Given the description of an element on the screen output the (x, y) to click on. 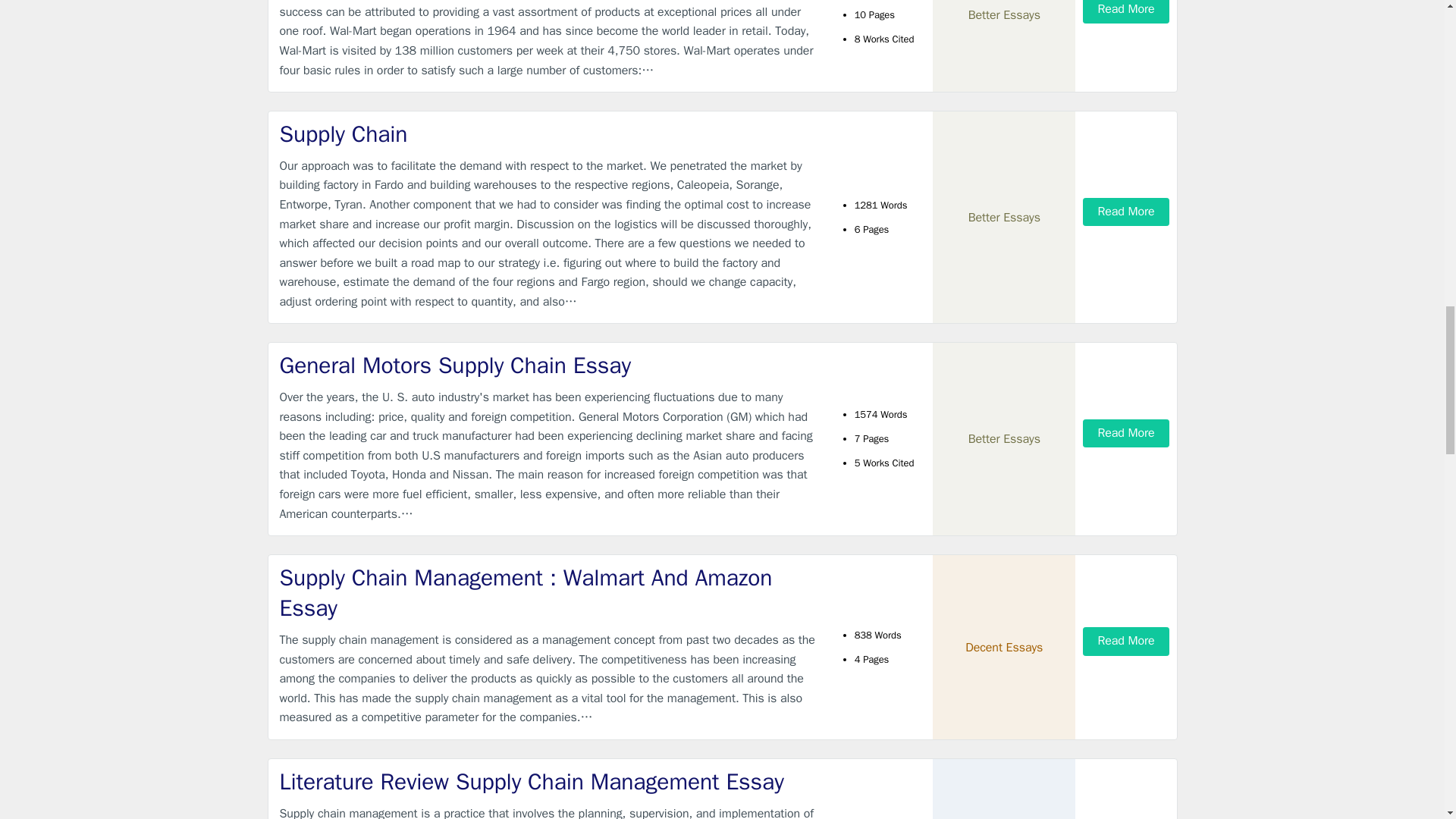
Literature Review Supply Chain Management Essay (548, 781)
Supply Chain Management : Walmart And Amazon Essay (548, 593)
General Motors Supply Chain Essay (548, 365)
Read More (1126, 433)
Read More (1126, 11)
Supply Chain (548, 133)
Read More (1126, 641)
Read More (1126, 212)
